Given the description of an element on the screen output the (x, y) to click on. 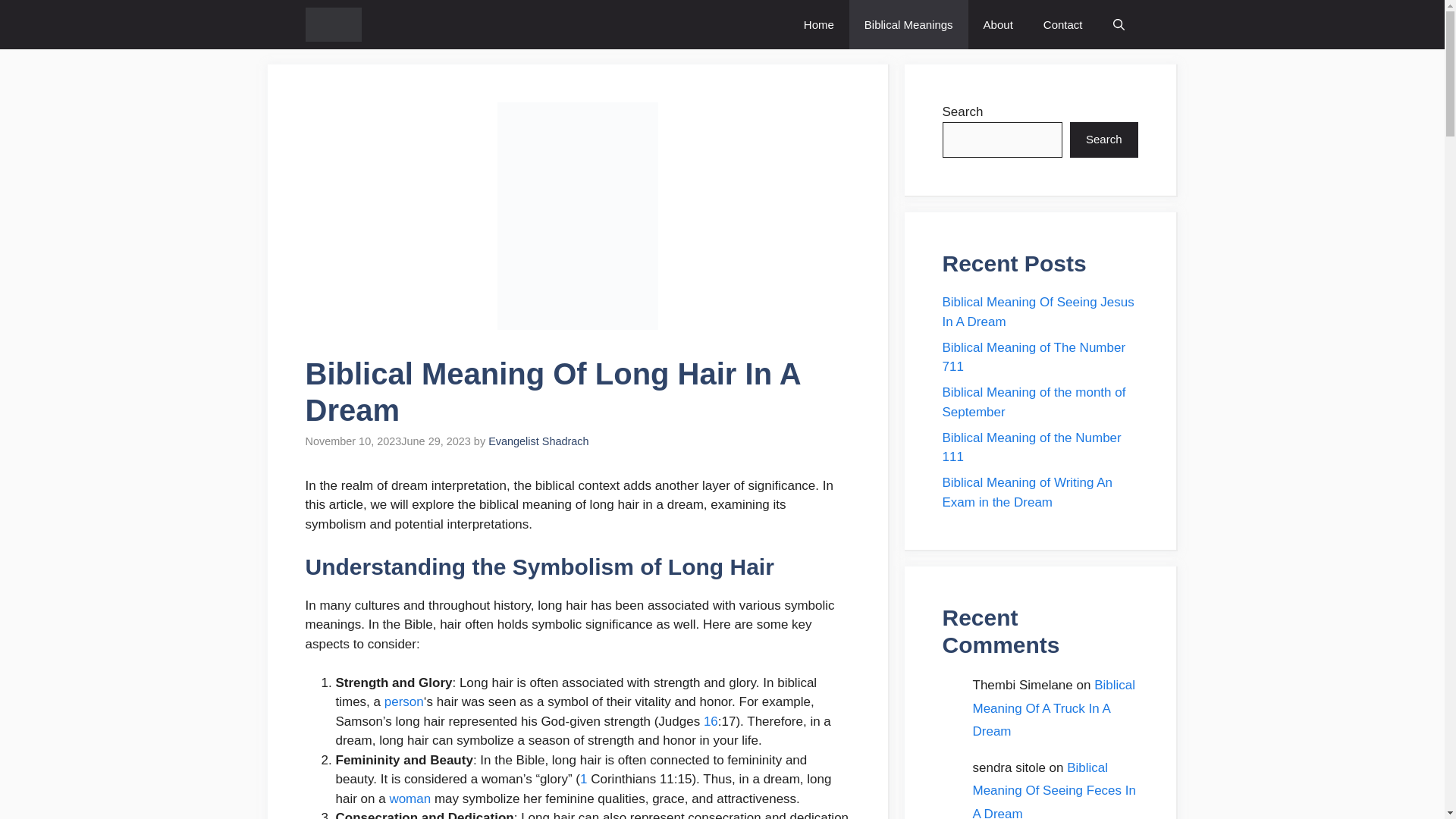
Biblical Meaning of the month of September (1033, 401)
Biblical Meaning Of Seeing Feces In A Dream (1053, 789)
person (403, 701)
Home (818, 24)
Contact (1062, 24)
Biblical Meaning of The Number 711 (1033, 356)
About (997, 24)
View all posts by Evangelist Shadrach (537, 440)
Evangelist Shadrach (537, 440)
Biblical Meaning of Writing An Exam in the Dream (1027, 492)
Search (1104, 139)
16 (710, 721)
Biblical Meaning of the Number 111 (1031, 447)
woman (409, 798)
Biblical Meanings (908, 24)
